Given the description of an element on the screen output the (x, y) to click on. 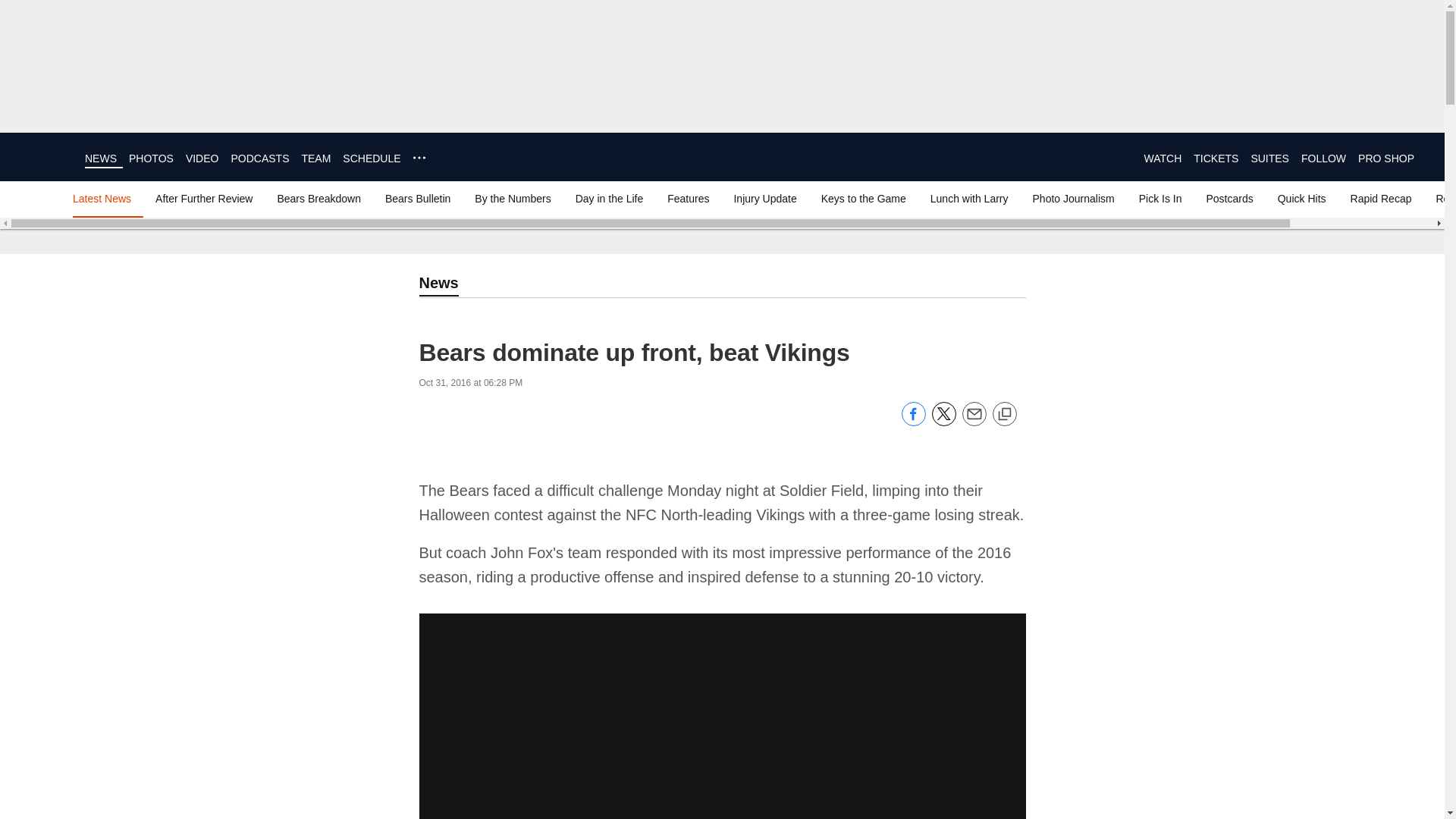
NEWS (100, 158)
Injury Update (764, 198)
Keys to the Game (863, 198)
VIDEO (202, 158)
Day in the Life (609, 198)
Features (687, 198)
Bears Bulletin (417, 198)
PODCASTS (259, 158)
Pick Is In (1160, 198)
WATCH (1161, 158)
